Given the description of an element on the screen output the (x, y) to click on. 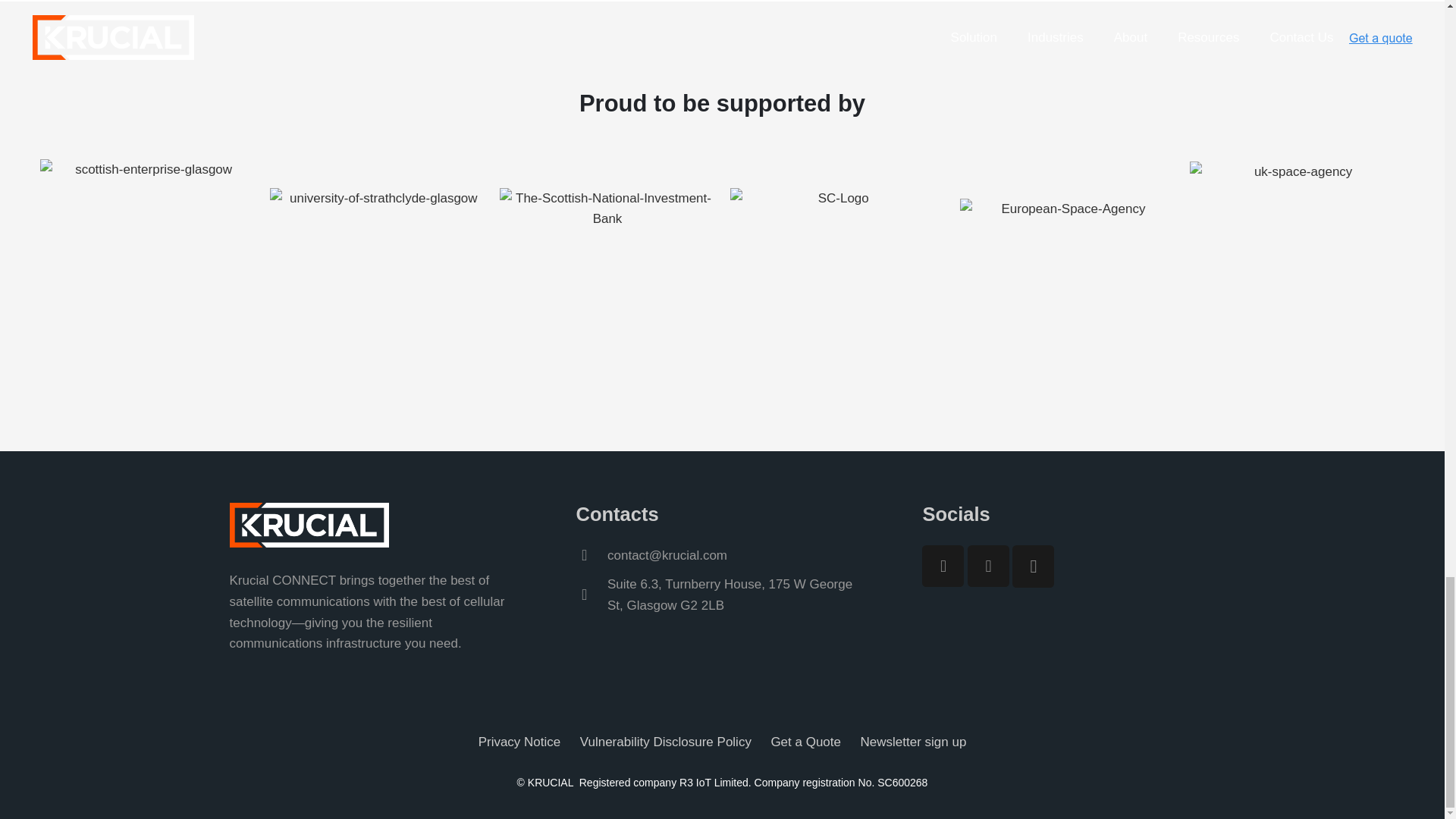
scottish-enterprise-glasgow (146, 265)
Krucial (308, 524)
uk-space-agency (1297, 266)
SC-Logo (836, 266)
university-of-strathclyde-glasgow (376, 266)
The-Scottish-National-Investment-Bank (606, 266)
European-Space-Agency (1066, 266)
